Given the description of an element on the screen output the (x, y) to click on. 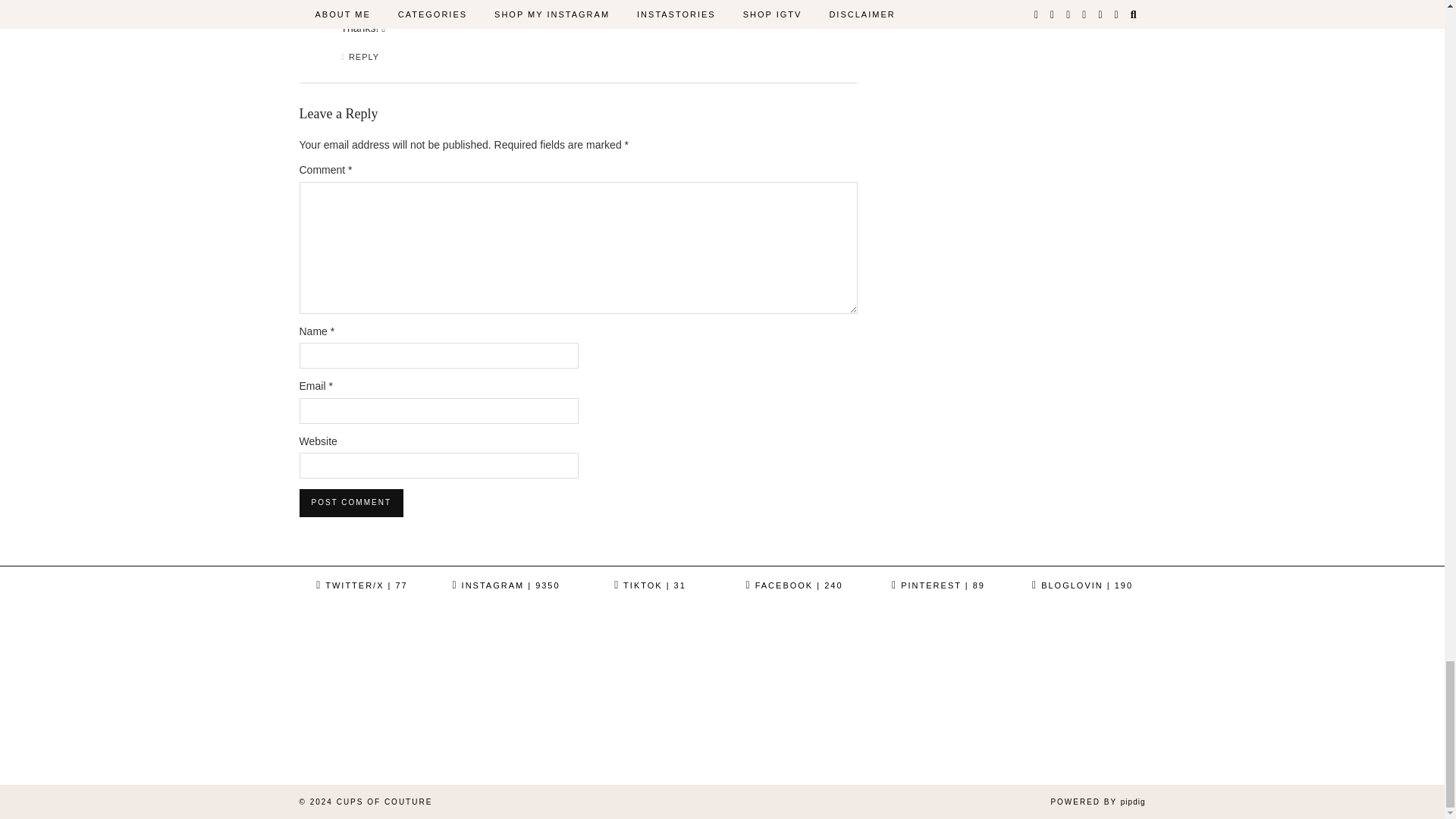
Post Comment (350, 502)
